Given the description of an element on the screen output the (x, y) to click on. 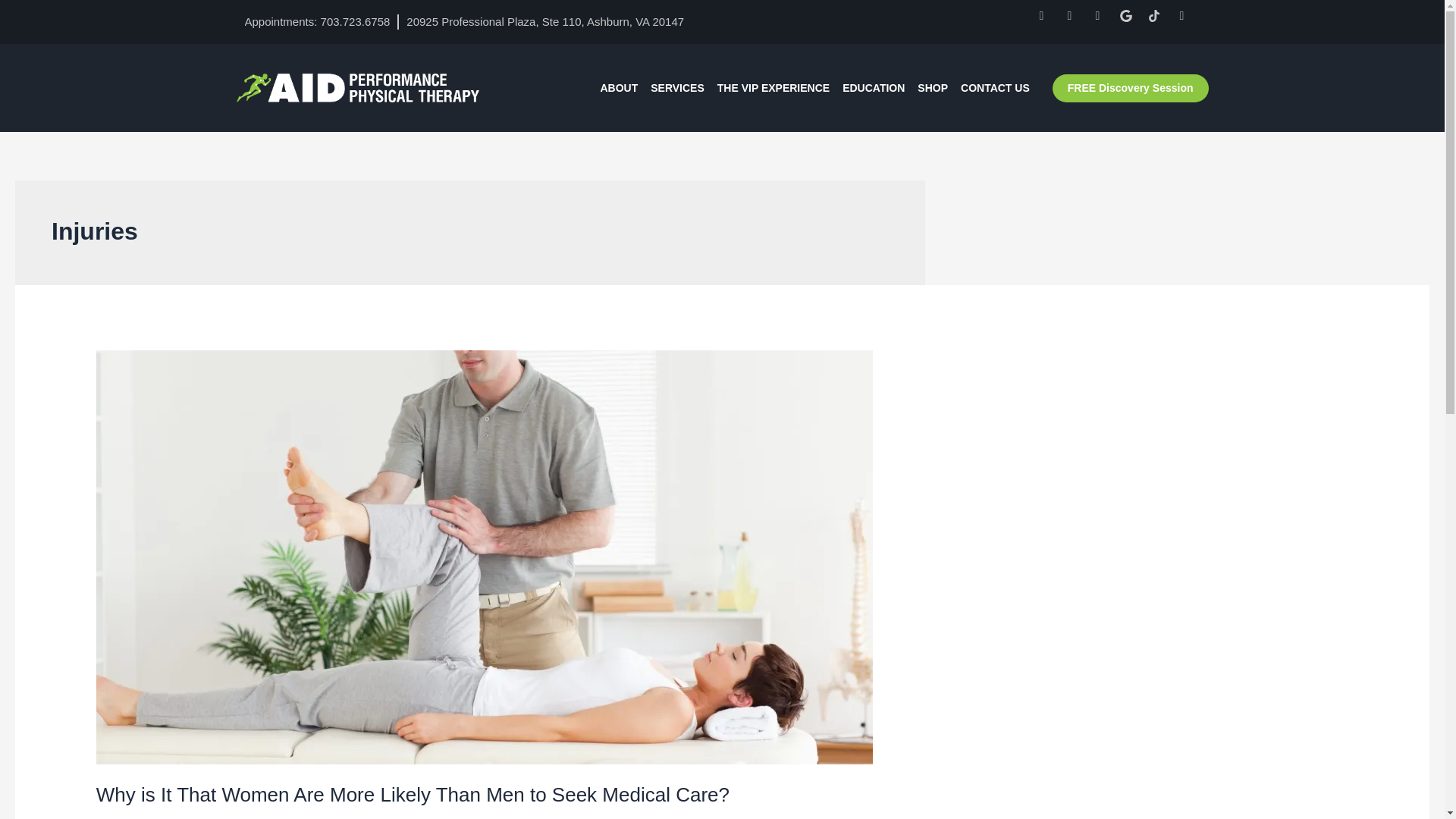
SERVICES (677, 87)
20925 Professional Plaza, Ste 110, Ashburn, VA 20147 (545, 21)
EDUCATION (873, 87)
Tiktok Icon (1160, 21)
Twitter (1074, 21)
Instagram (1186, 21)
Appointments: 703.723.6758 (317, 21)
CONTACT US (994, 87)
Facebook (1047, 21)
ABOUT (618, 87)
